Given the description of an element on the screen output the (x, y) to click on. 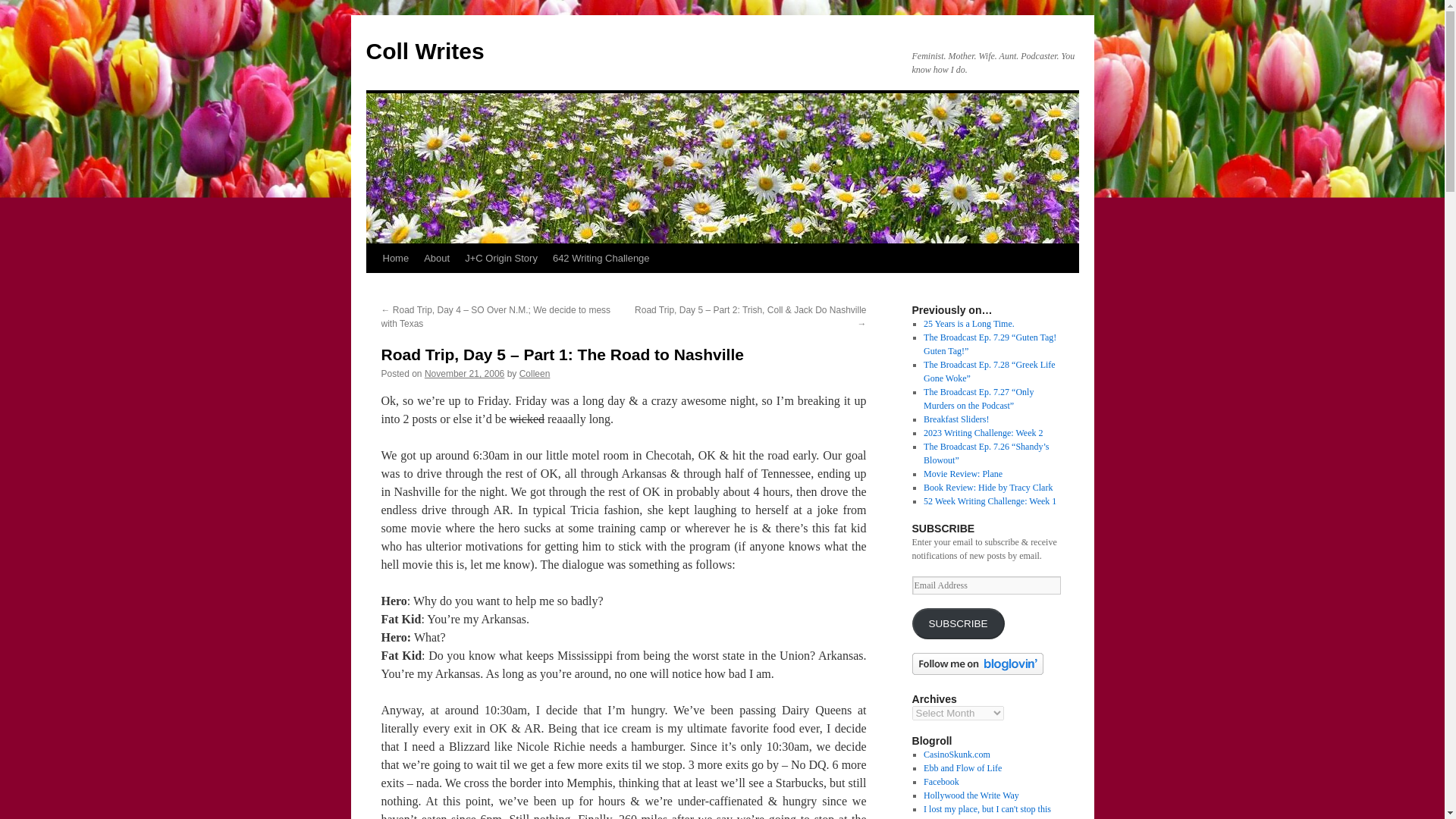
642 Writing Challenge (601, 258)
About (436, 258)
View all posts by Colleen (534, 373)
November 21, 2006 (464, 373)
Coll Writes (424, 50)
Colleen (534, 373)
Follow Coll Writes on Bloglovin (976, 671)
8:57 pm (464, 373)
Home (395, 258)
